Given the description of an element on the screen output the (x, y) to click on. 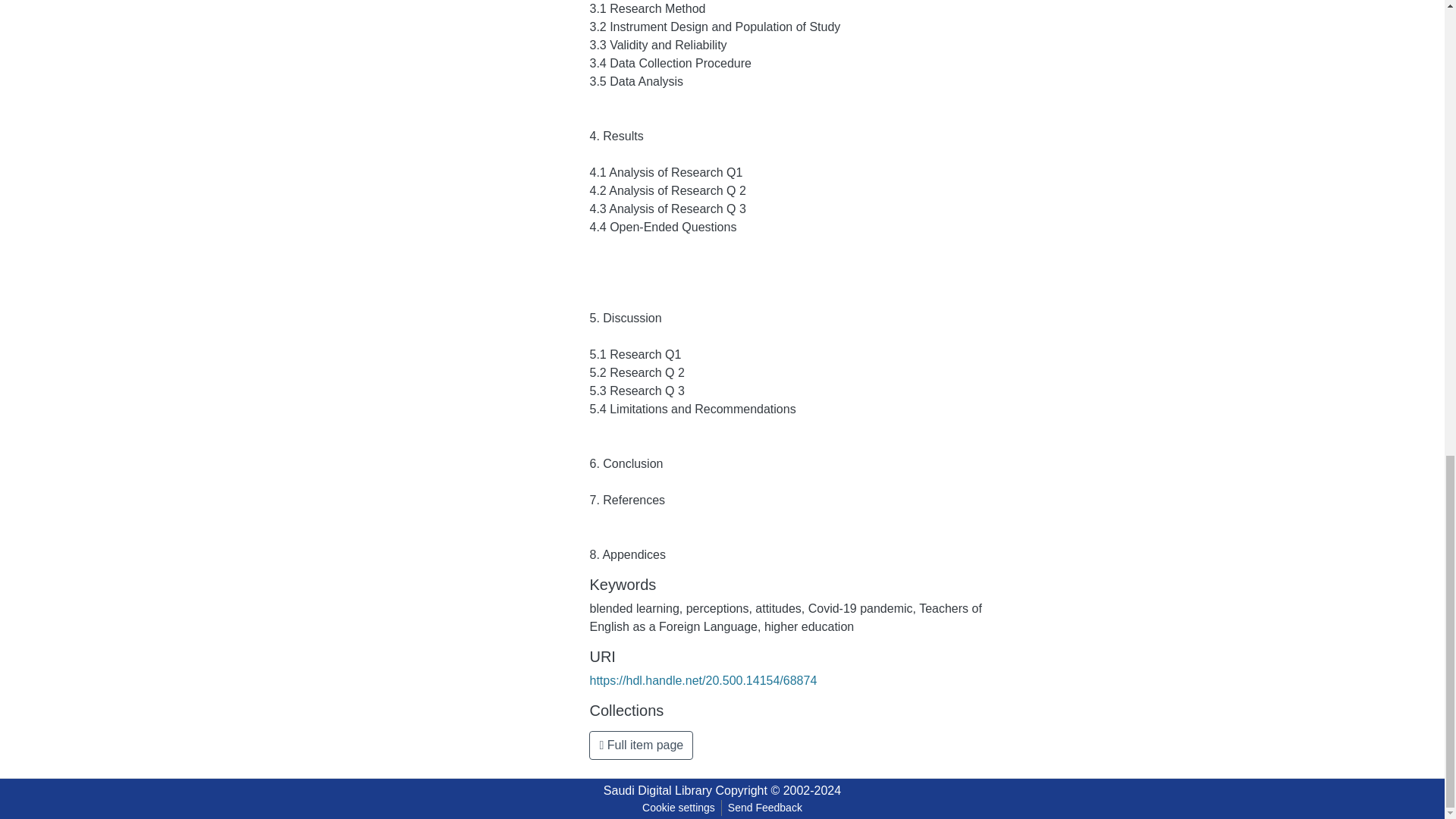
Cookie settings (678, 807)
Full item page (641, 745)
Send Feedback (765, 807)
Saudi Digital Library (657, 789)
